Given the description of an element on the screen output the (x, y) to click on. 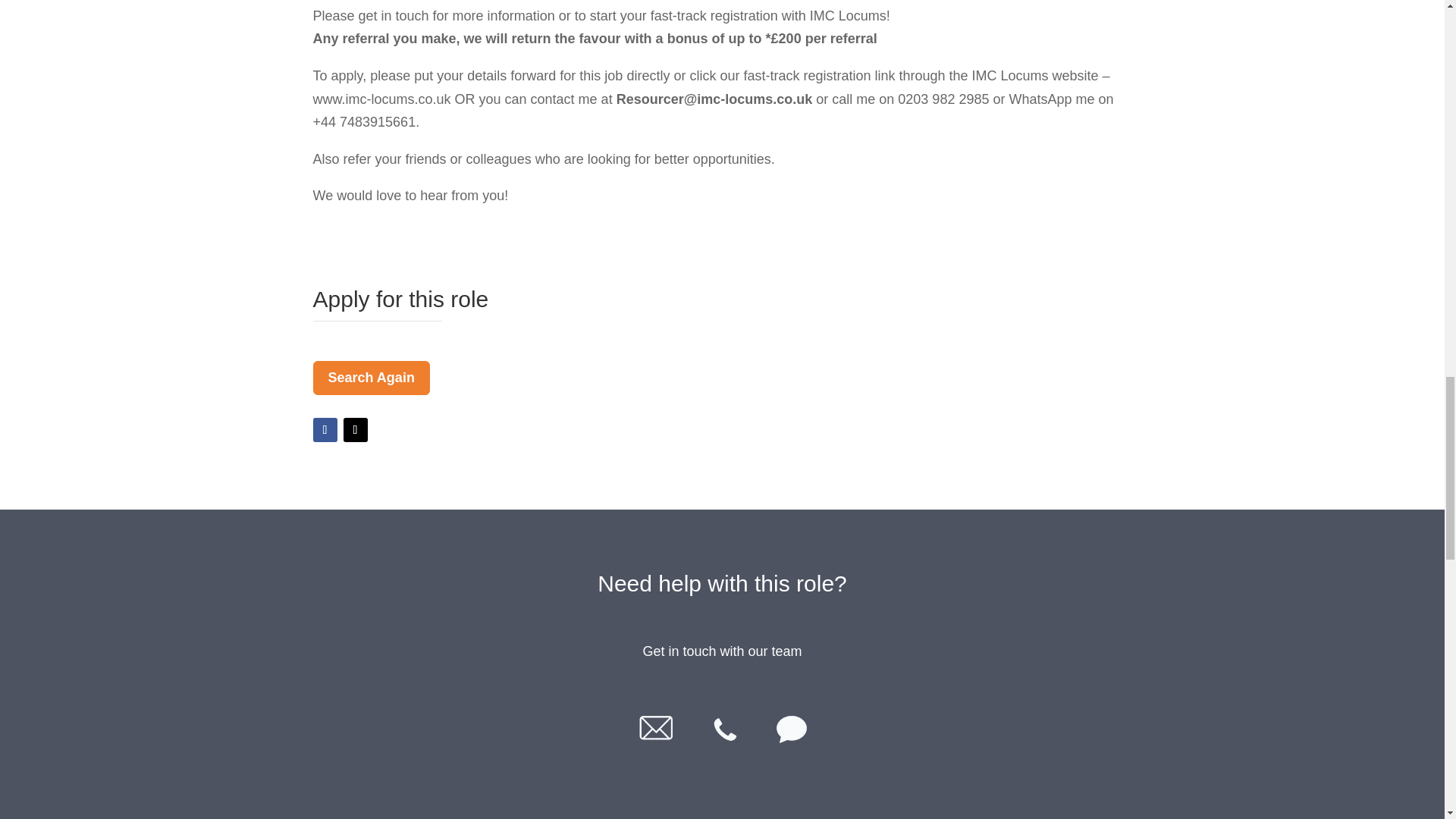
Follow on Facebook (324, 429)
Follow on X (354, 429)
